Given the description of an element on the screen output the (x, y) to click on. 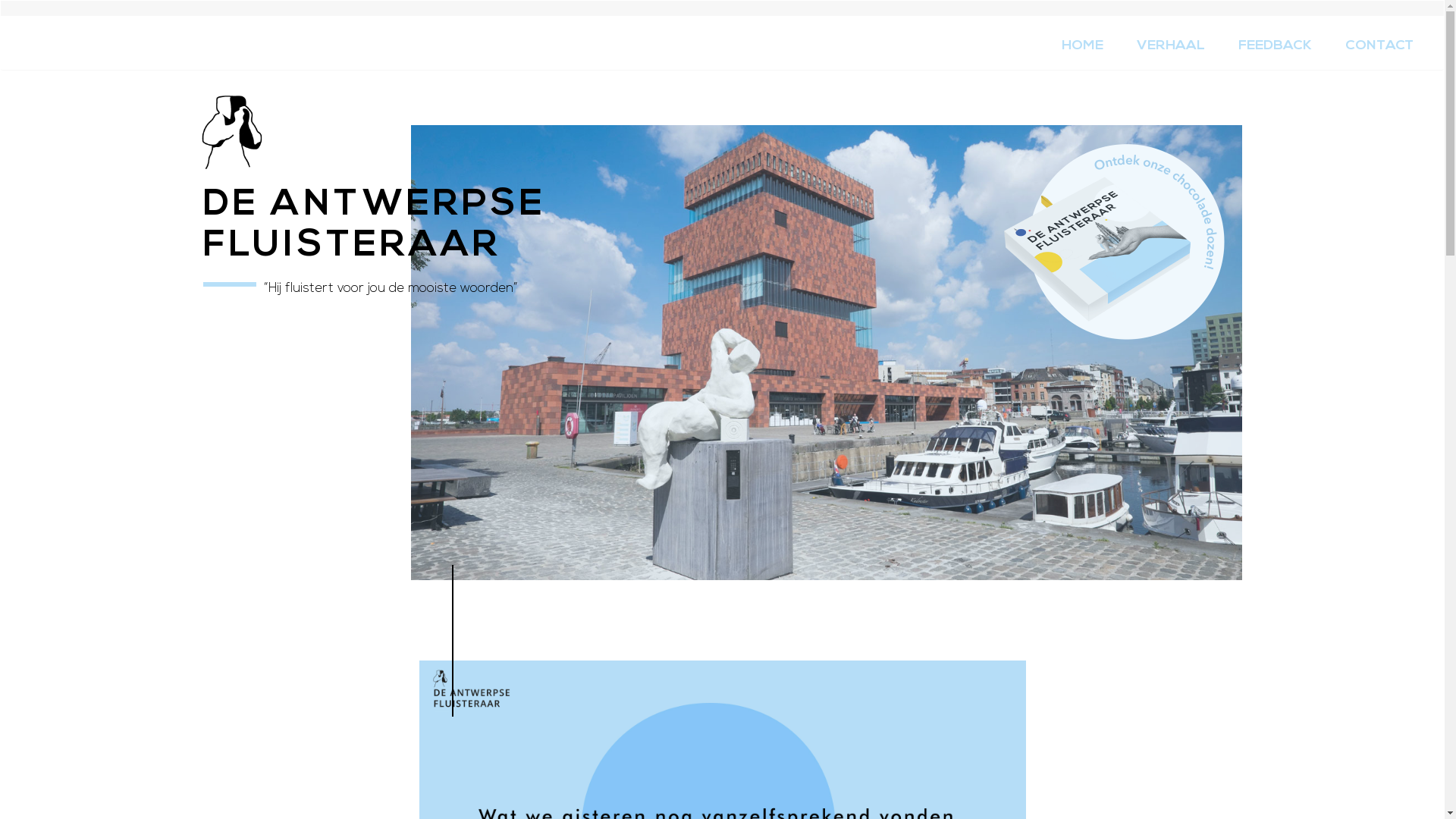
DE ANTWERPSE
FLUISTERAAR Element type: text (374, 190)
VERHAAL Element type: text (1170, 46)
0 Element type: text (161, 30)
HOME Element type: text (1082, 46)
CONTACT Element type: text (1379, 46)
FEEDBACK Element type: text (1275, 46)
